Given the description of an element on the screen output the (x, y) to click on. 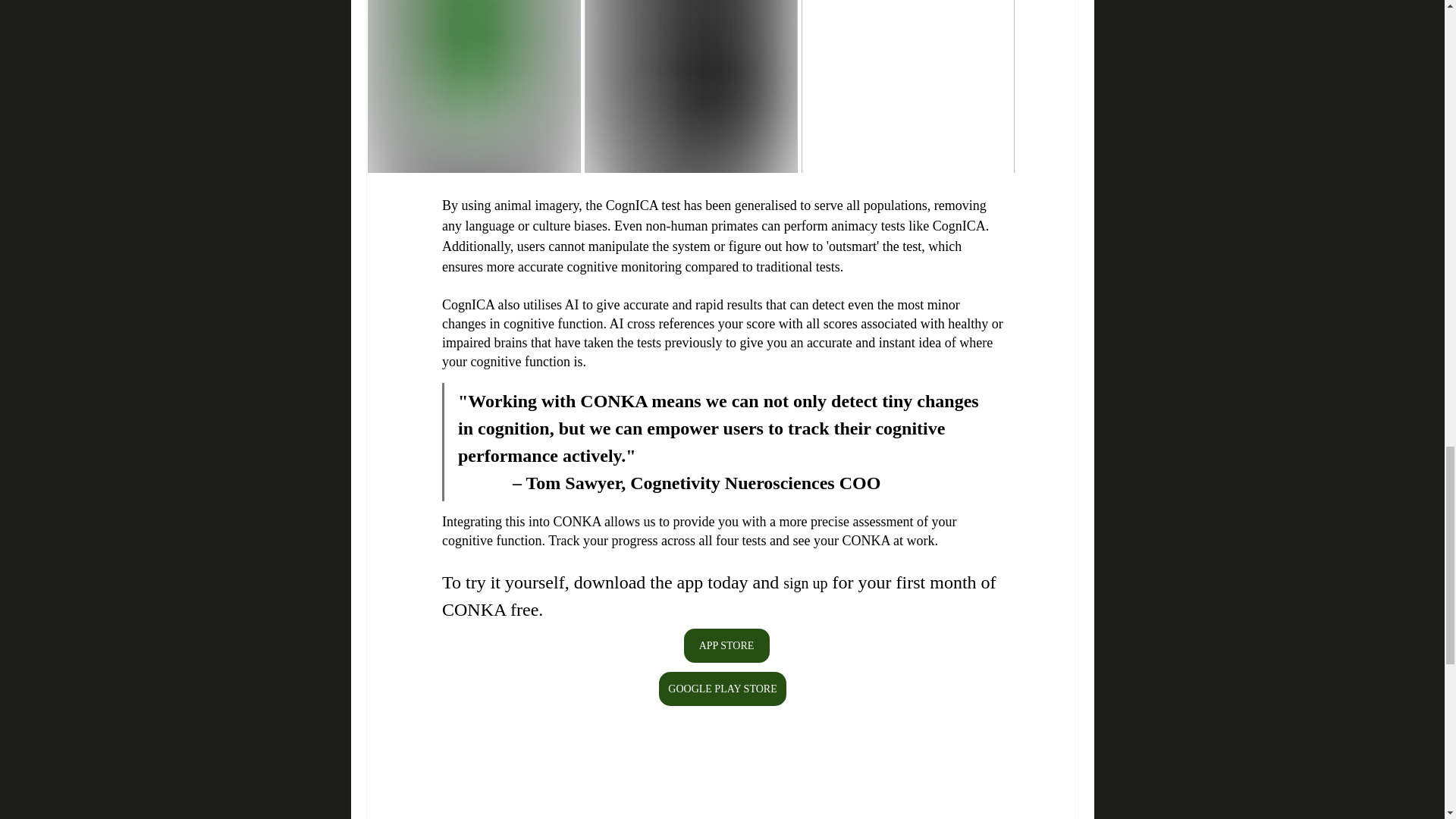
GOOGLE PLAY STORE (722, 688)
APP STORE (725, 645)
